Given the description of an element on the screen output the (x, y) to click on. 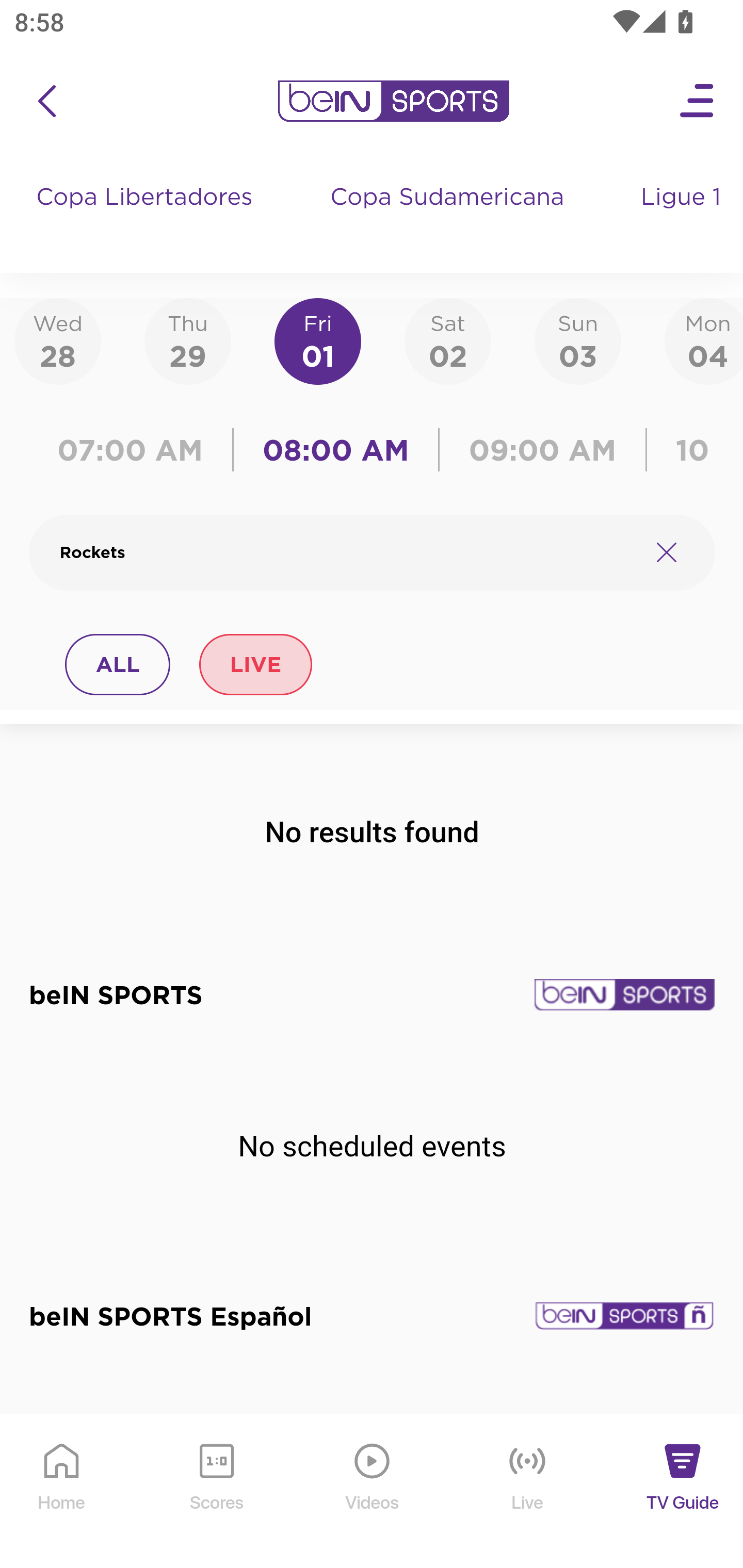
en-us?platform=mobile_android bein logo (392, 101)
icon back (46, 101)
Open Menu Icon (697, 101)
Copa Libertadores (146, 216)
Copa Sudamericana (448, 216)
Ligue 1 (682, 216)
Wed28 (58, 340)
Thu29 (187, 340)
Fri01 (318, 340)
Sat02 (447, 340)
Sun03 (578, 340)
Mon04 (703, 340)
07:00 AM (135, 449)
08:00 AM (336, 449)
09:00 AM (542, 449)
Rockets (346, 552)
ALL (118, 663)
LIVE (255, 663)
Home Home Icon Home (61, 1491)
Scores Scores Icon Scores (216, 1491)
Videos Videos Icon Videos (372, 1491)
TV Guide TV Guide Icon TV Guide (682, 1491)
